Given the description of an element on the screen output the (x, y) to click on. 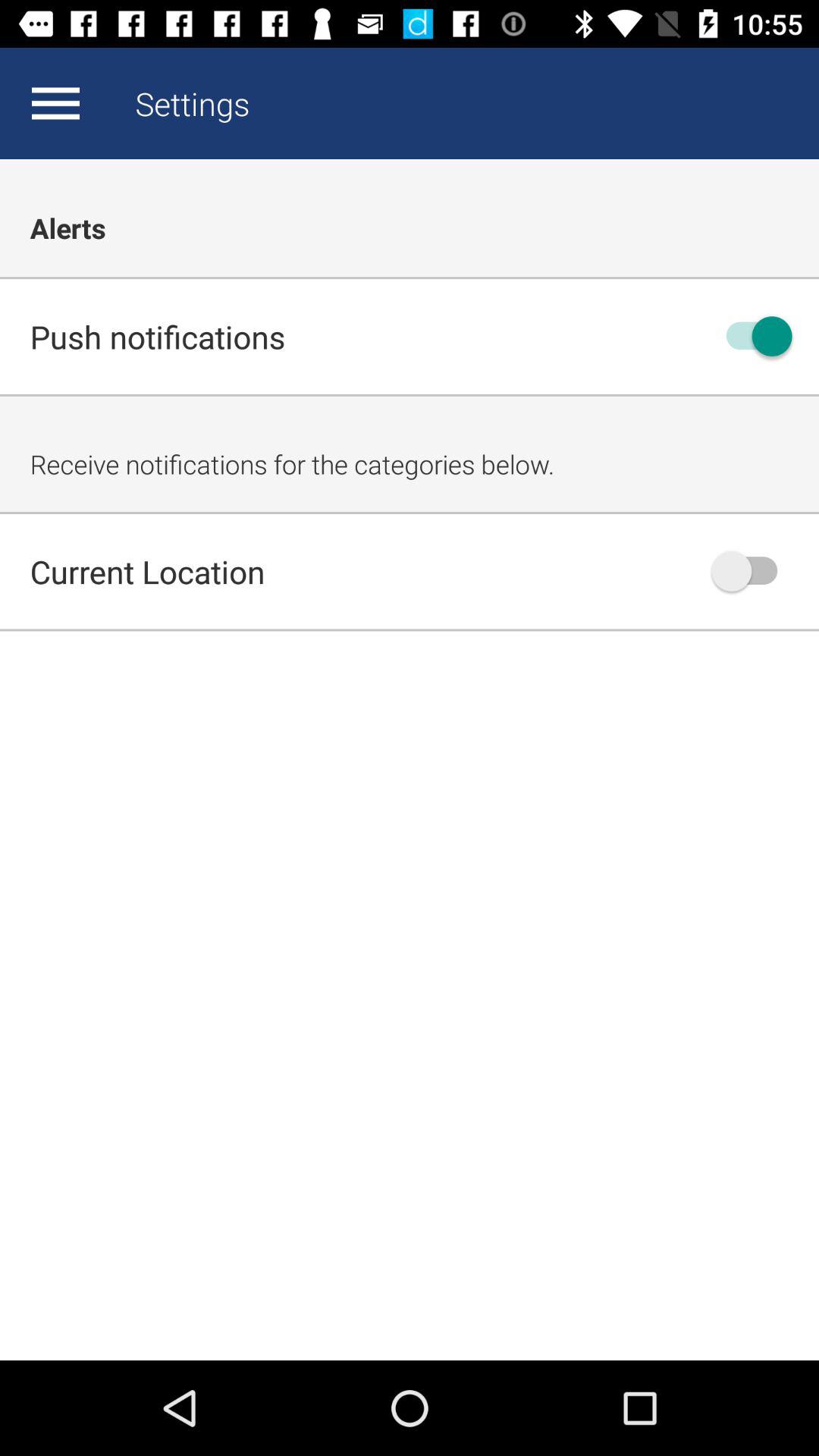
toggle notification option (751, 336)
